Given the description of an element on the screen output the (x, y) to click on. 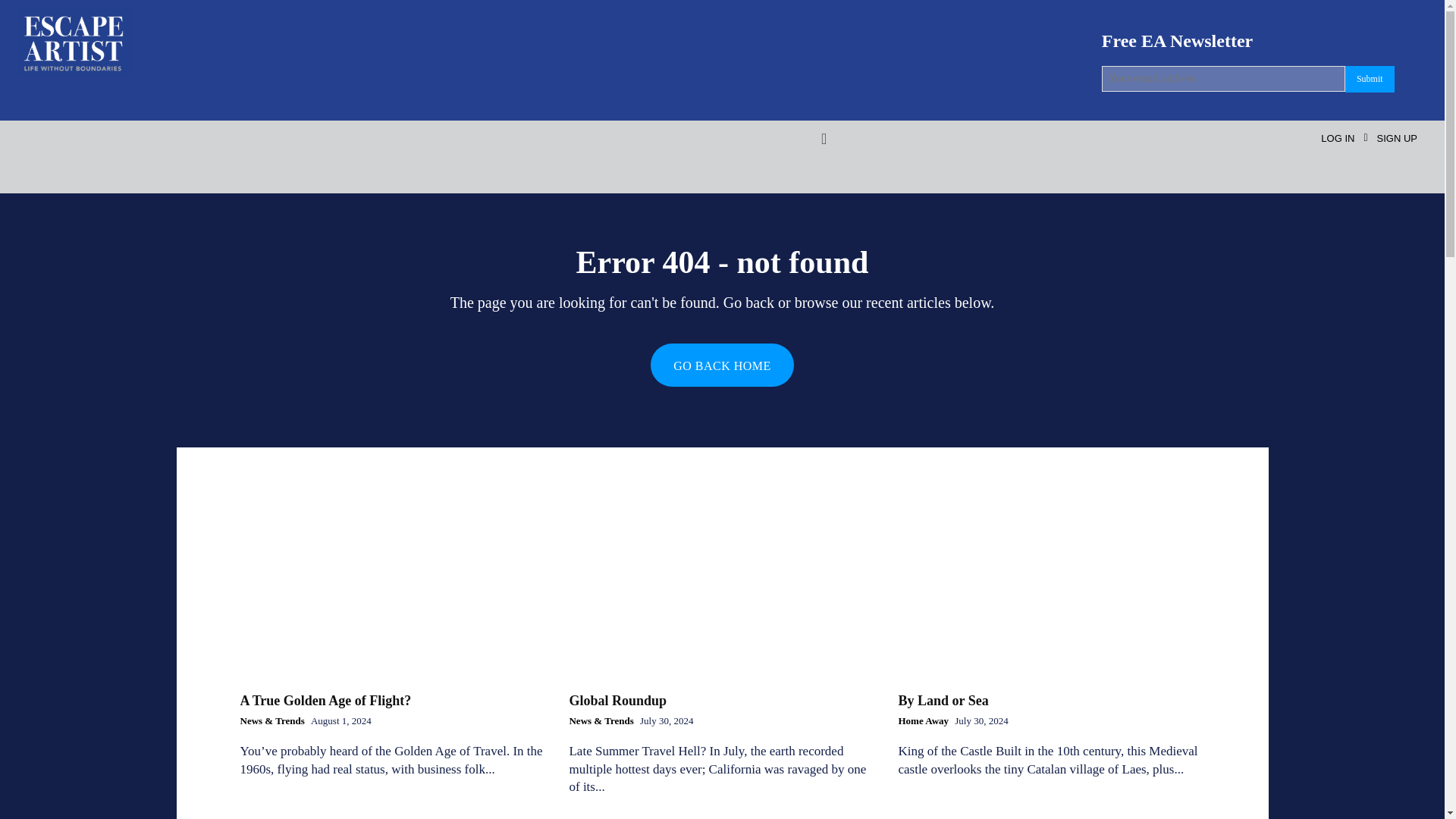
A True Golden Age of Flight? (393, 587)
Global Roundup (722, 587)
Go back home (721, 364)
By Land or Sea (943, 700)
A True Golden Age of Flight? (325, 700)
GO BACK HOME (721, 364)
A True Golden Age of Flight? (325, 700)
Global Roundup (617, 700)
LOG IN (1336, 138)
Submit (1369, 79)
Submit (1369, 79)
SIGN UP (1397, 138)
By Land or Sea (1051, 587)
